Given the description of an element on the screen output the (x, y) to click on. 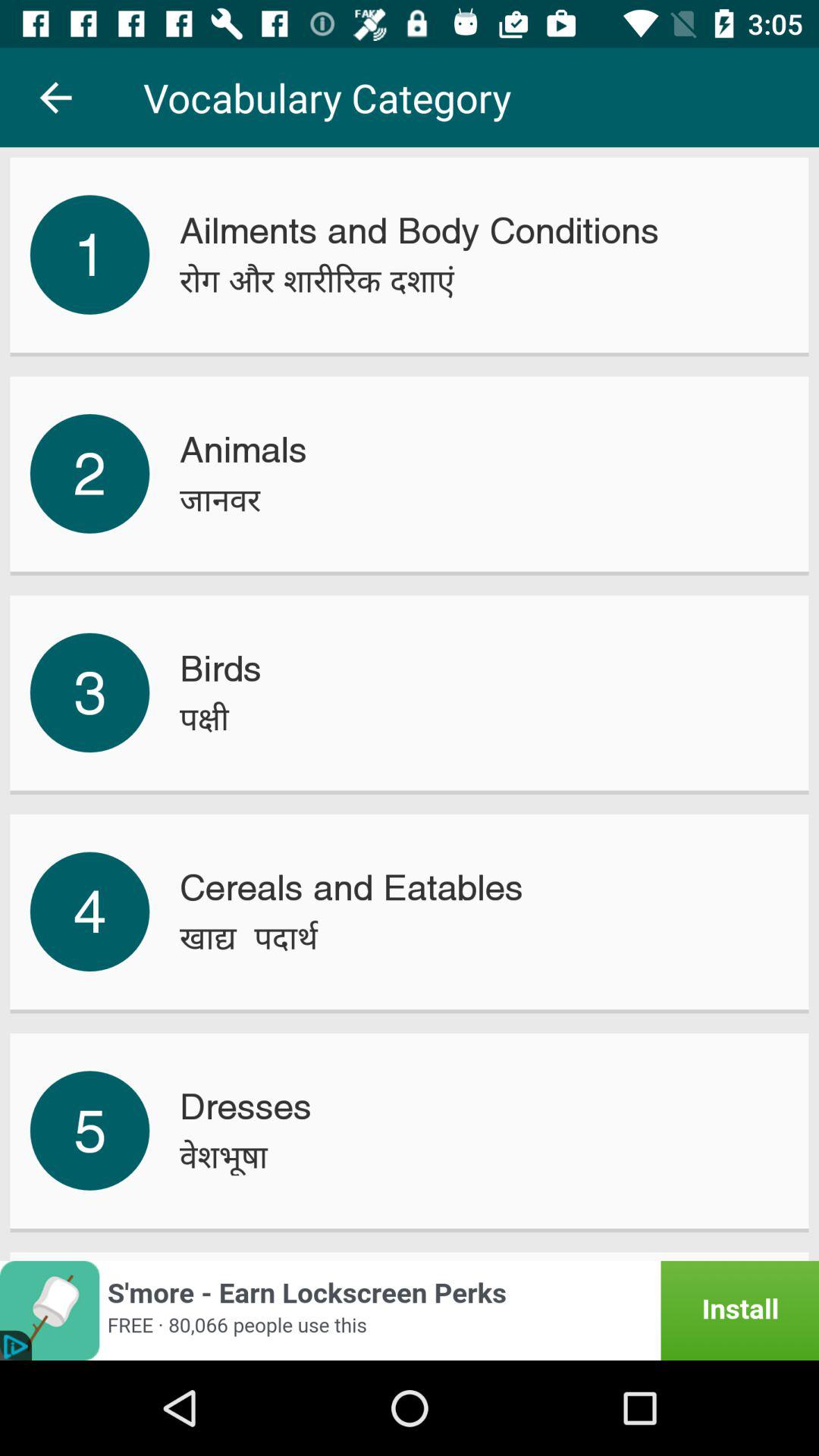
turn off item above birds (219, 499)
